Given the description of an element on the screen output the (x, y) to click on. 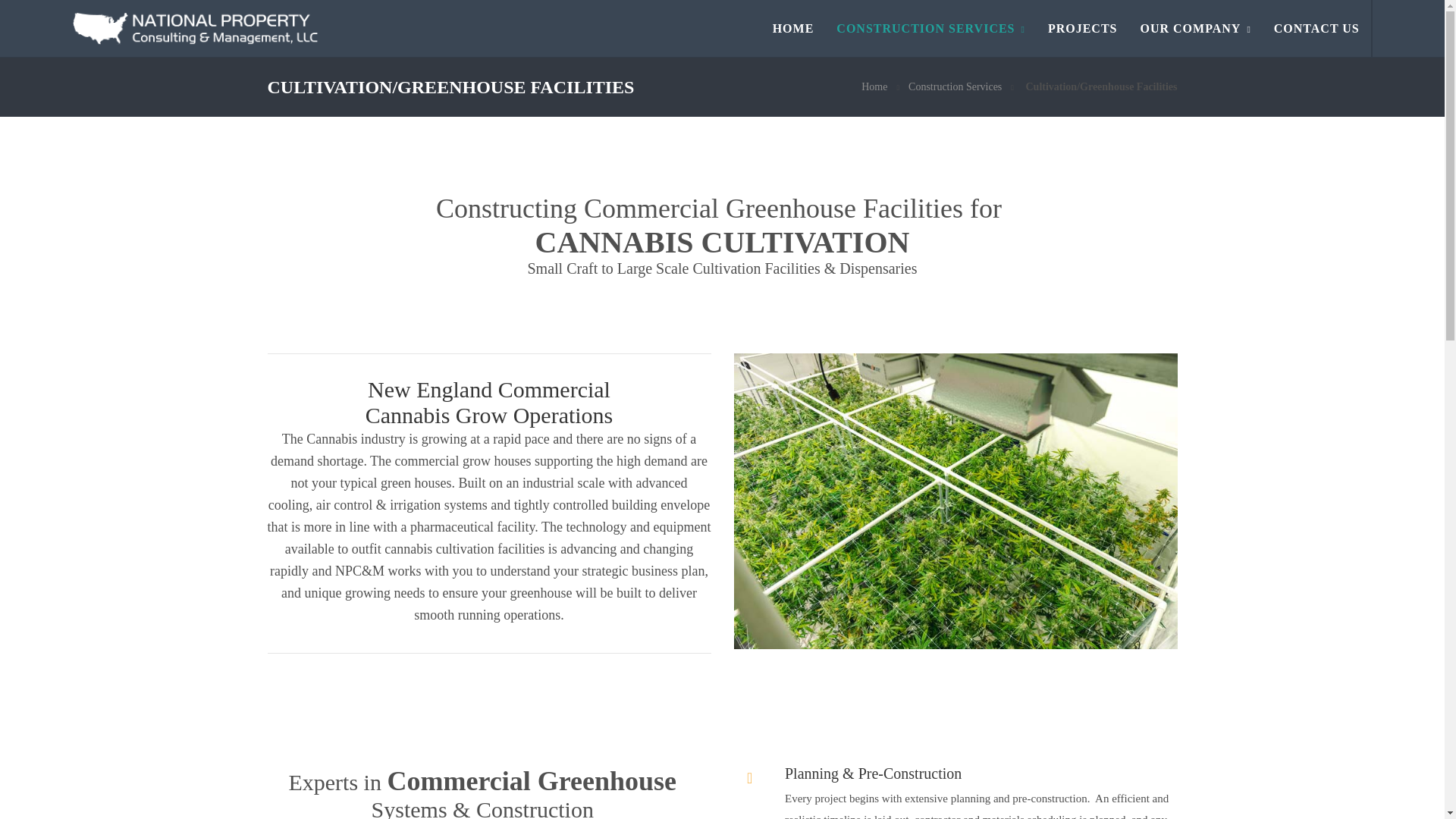
Construction Services (954, 86)
Construction Services (954, 86)
Home (873, 86)
CONSTRUCTION SERVICES (930, 28)
Home (873, 86)
CONTACT US (1316, 28)
PROJECTS (1083, 28)
OUR COMPANY (1195, 28)
